Given the description of an element on the screen output the (x, y) to click on. 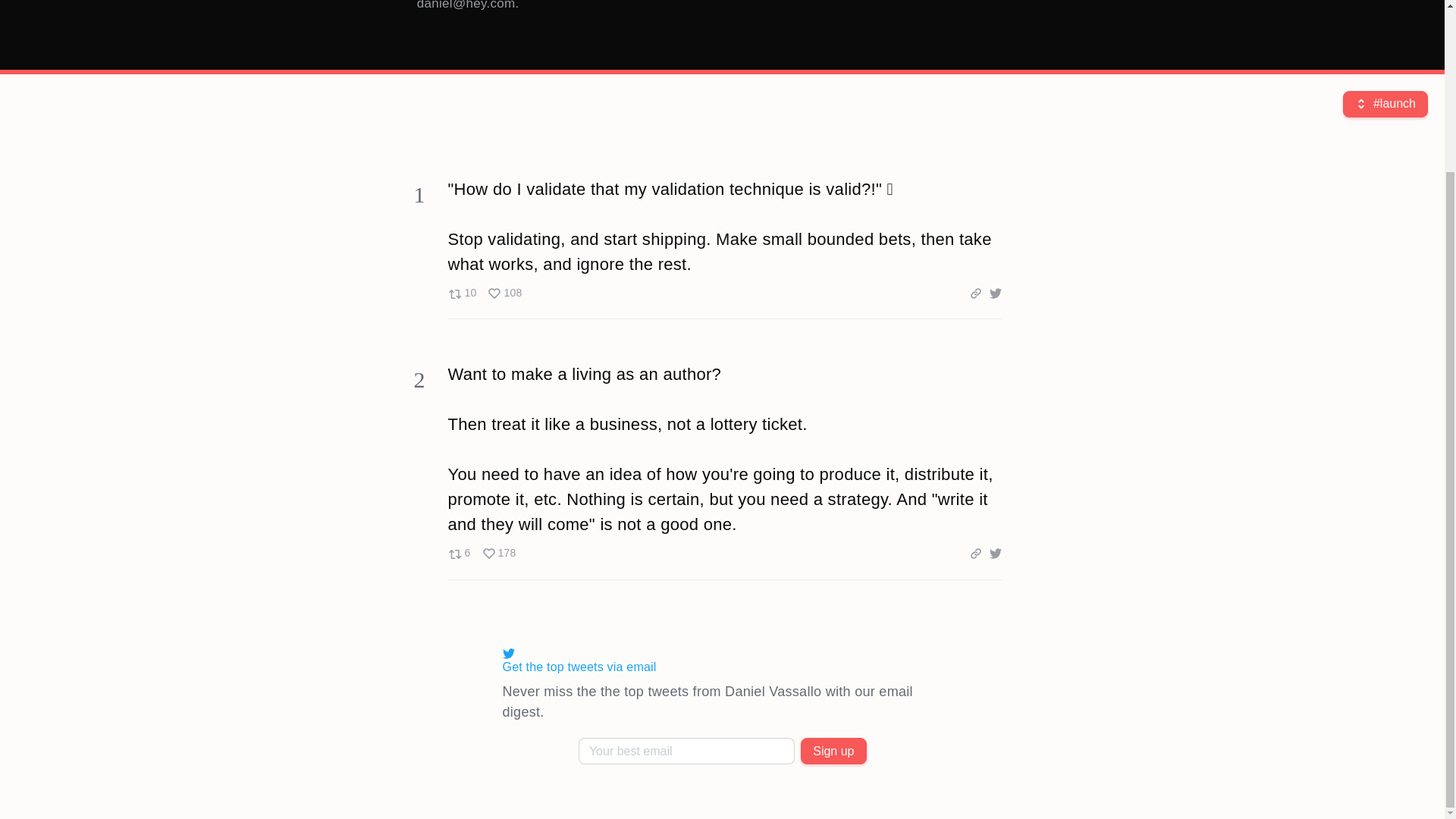
Sign up (483, 293)
Sign up (480, 553)
